Given the description of an element on the screen output the (x, y) to click on. 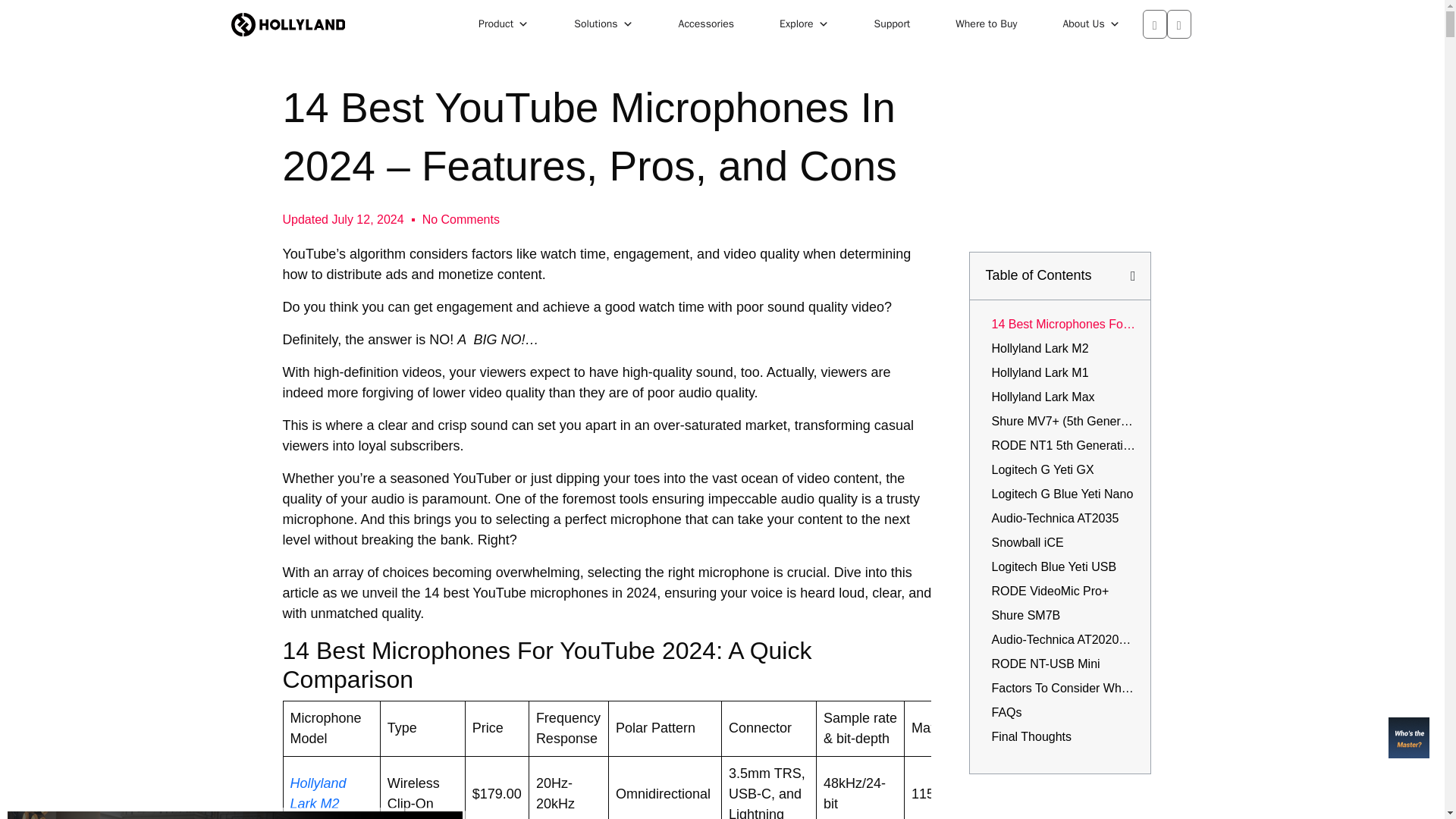
Accessories (706, 24)
Solutions (603, 24)
Product (503, 24)
Explore (803, 24)
